Given the description of an element on the screen output the (x, y) to click on. 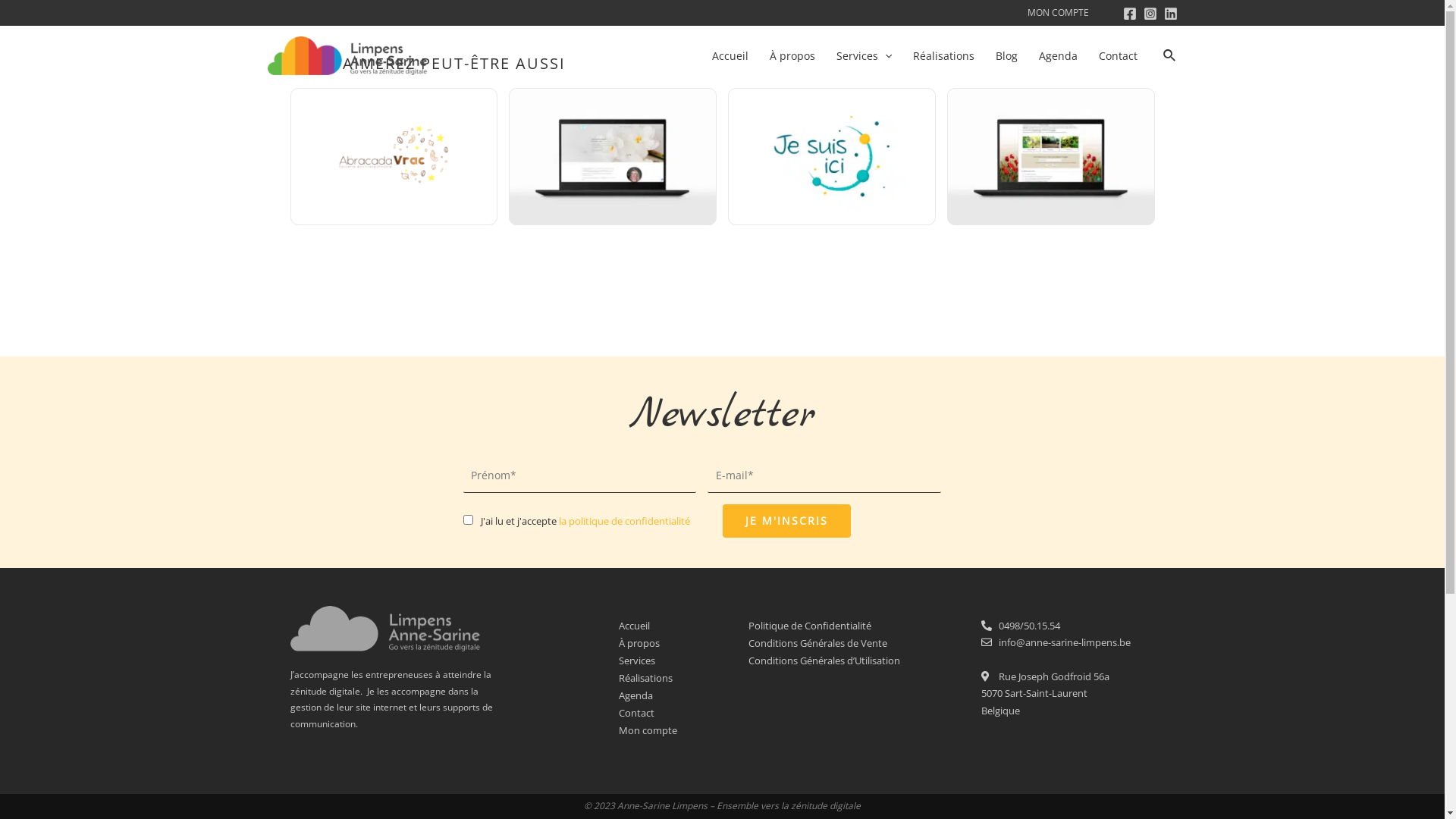
Mon compte Element type: text (683, 730)
MON COMPTE Element type: text (1057, 12)
Agenda Element type: text (1058, 55)
Je m'inscris Element type: text (785, 520)
Contact Element type: text (1118, 55)
Agenda Element type: text (683, 695)
Accueil Element type: text (683, 625)
Contact Element type: text (683, 712)
Services Element type: text (683, 660)
Se connecter Element type: text (721, 622)
Accueil Element type: text (730, 55)
Services Element type: text (863, 55)
0498/50.15.54 Element type: text (1067, 625)
Blog Element type: text (1006, 55)
info@anne-sarine-limpens.be Element type: text (1067, 641)
